Given the description of an element on the screen output the (x, y) to click on. 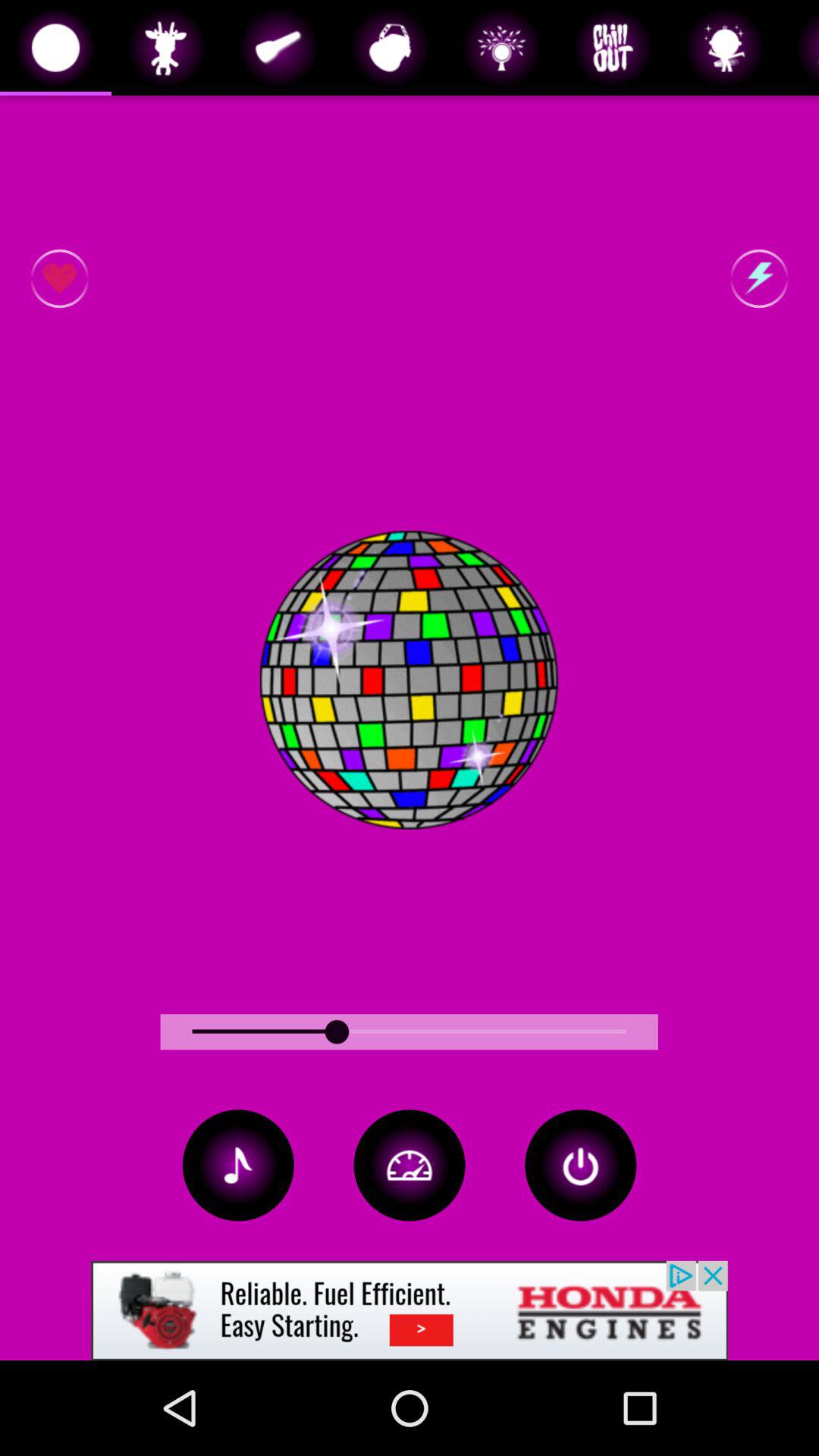
select music (238, 1165)
